Given the description of an element on the screen output the (x, y) to click on. 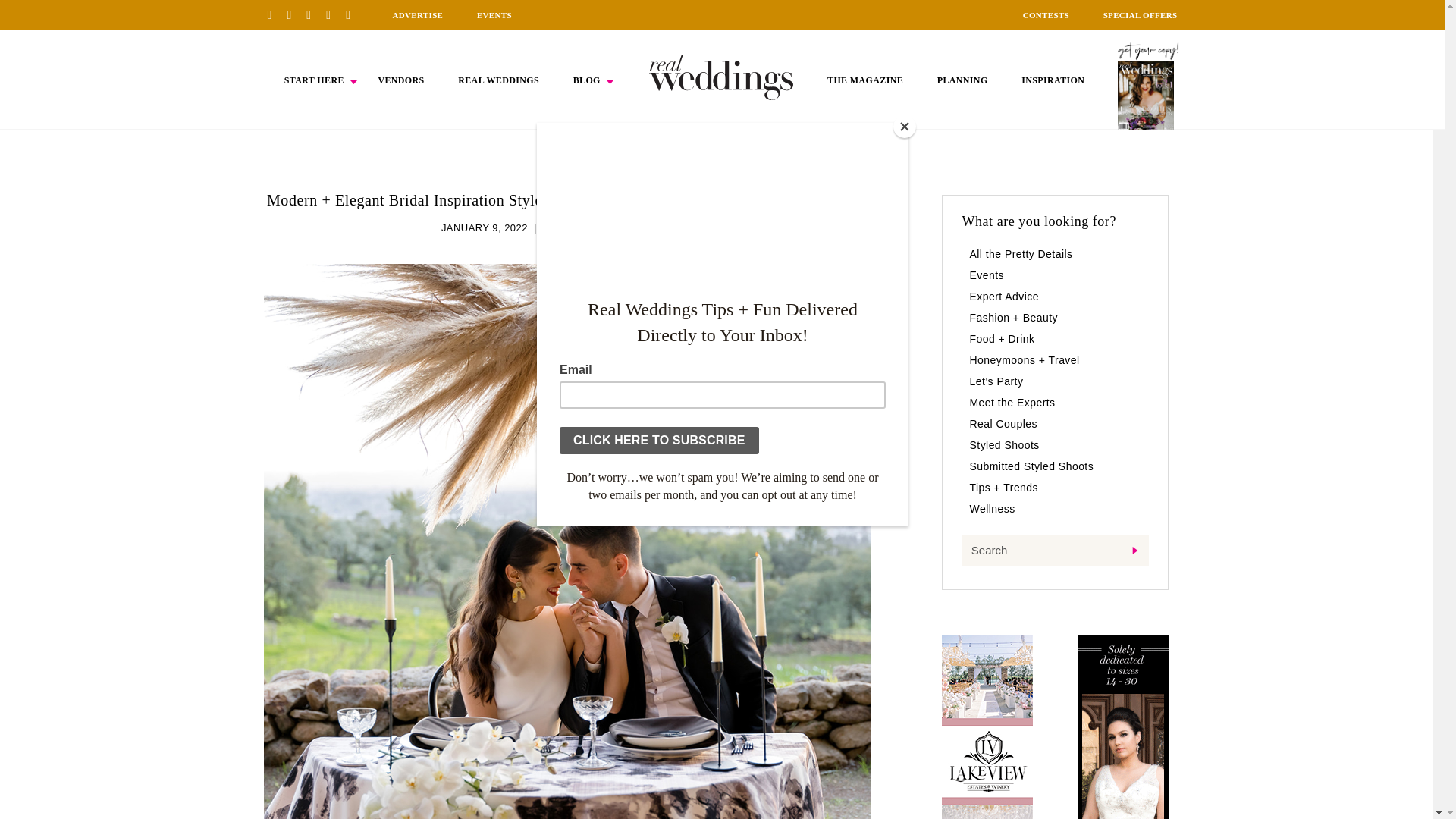
Search (1054, 550)
Search (1054, 550)
BLOG (586, 80)
INSPIRATION (1053, 80)
START HERE (313, 80)
Pinterest (274, 14)
Instagram (313, 14)
SUBMITTED STYLED SHOOTS (618, 227)
VENDORS (400, 80)
EVENTS (494, 14)
ADVERTISE (416, 14)
PLANNING (962, 80)
CONTESTS (1045, 14)
SPECIAL OFFERS (1140, 14)
REAL WEDDINGS (498, 80)
